Given the description of an element on the screen output the (x, y) to click on. 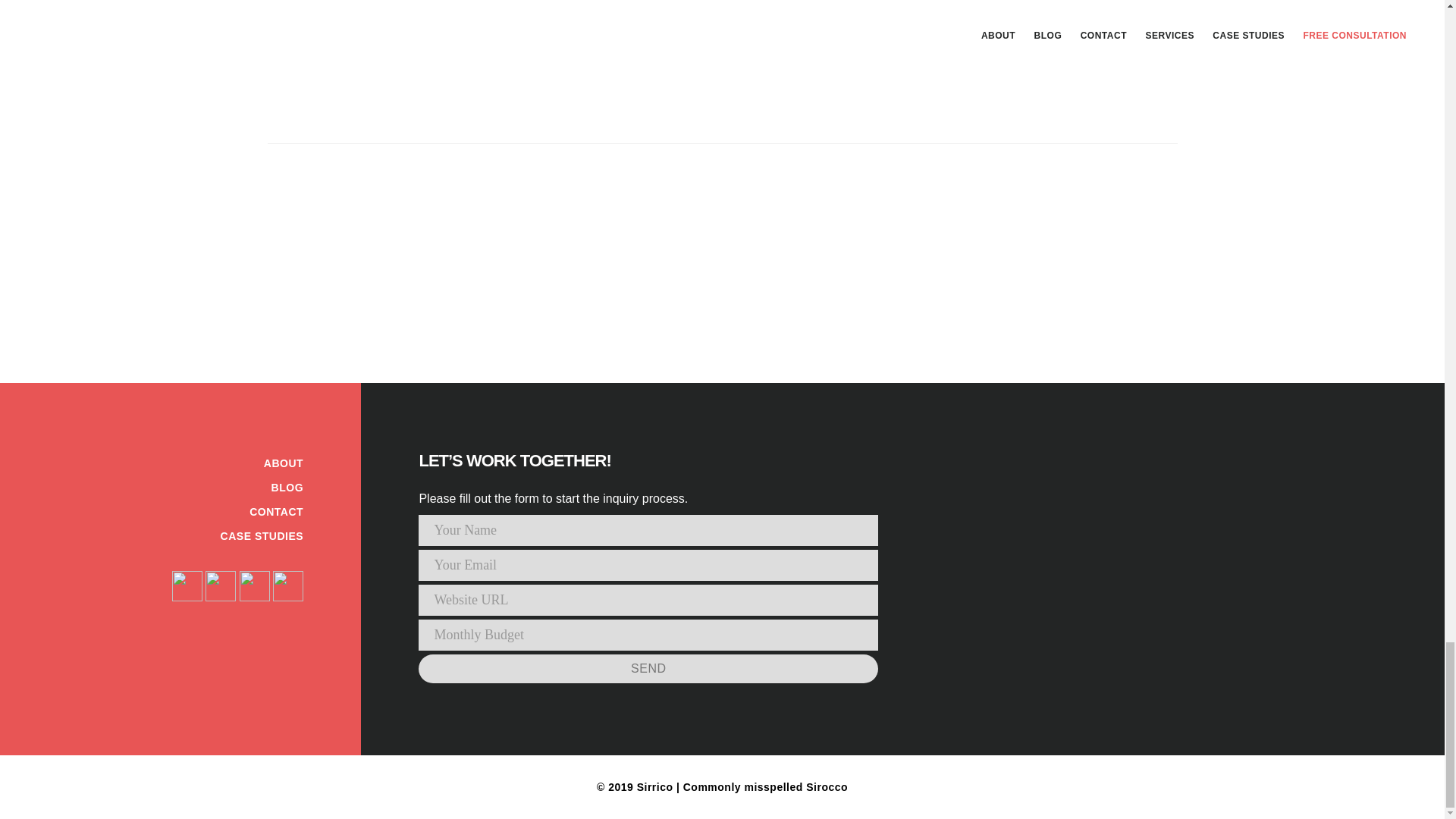
CONTACT (275, 511)
Send (648, 668)
ABOUT (282, 463)
BLOG (286, 487)
Send (648, 668)
CASE STUDIES (261, 535)
